Given the description of an element on the screen output the (x, y) to click on. 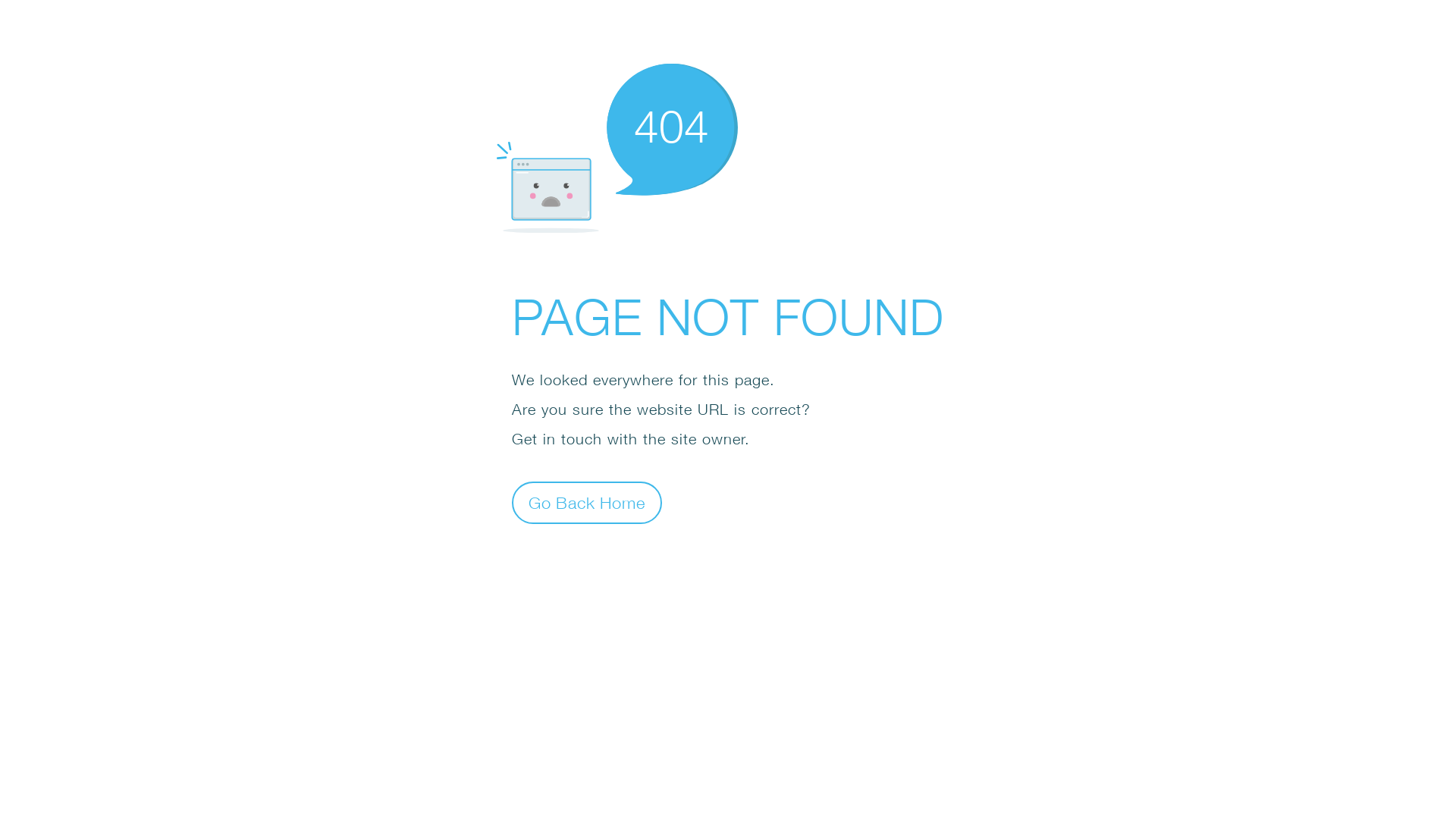
Go Back Home Element type: text (586, 502)
